Given the description of an element on the screen output the (x, y) to click on. 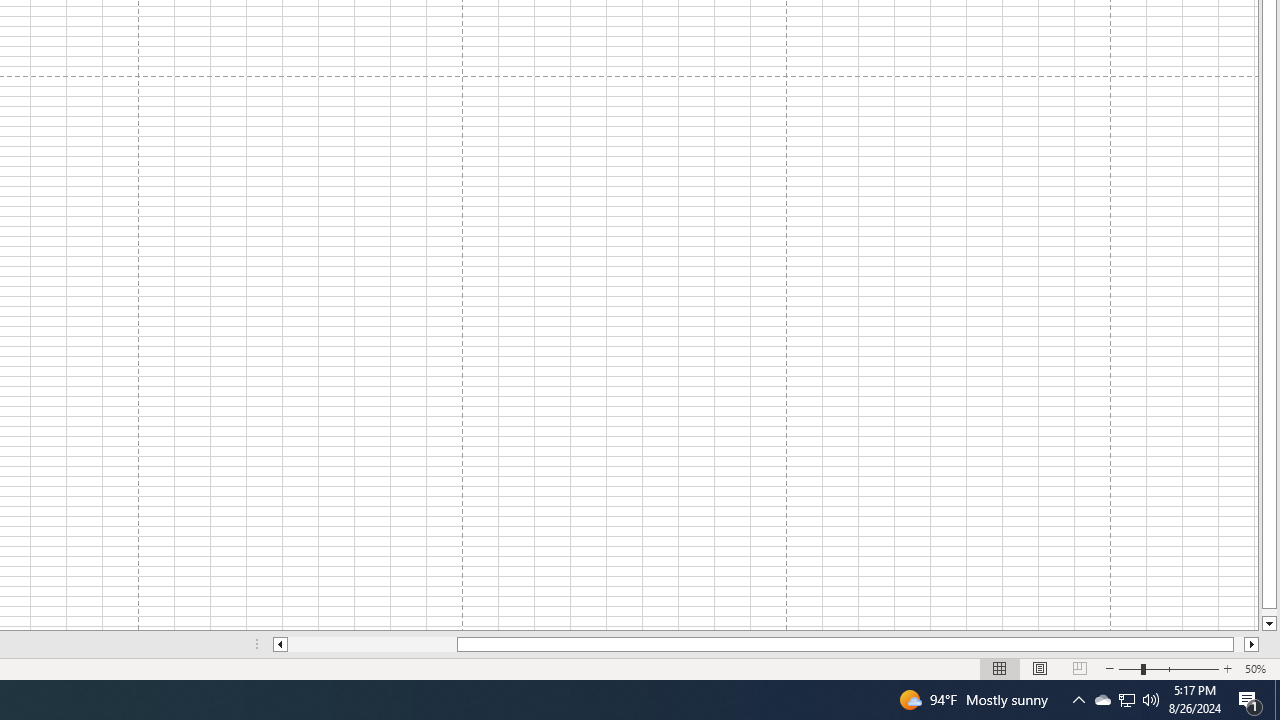
Zoom (1168, 668)
Zoom In (1227, 668)
Page left (372, 644)
Page Layout (1039, 668)
Column right (1252, 644)
Page right (1238, 644)
Page down (1268, 612)
Column left (279, 644)
Class: NetUIScrollBar (765, 644)
Normal (1000, 668)
Page Break Preview (1079, 668)
Line down (1268, 624)
Zoom Out (1129, 668)
